Given the description of an element on the screen output the (x, y) to click on. 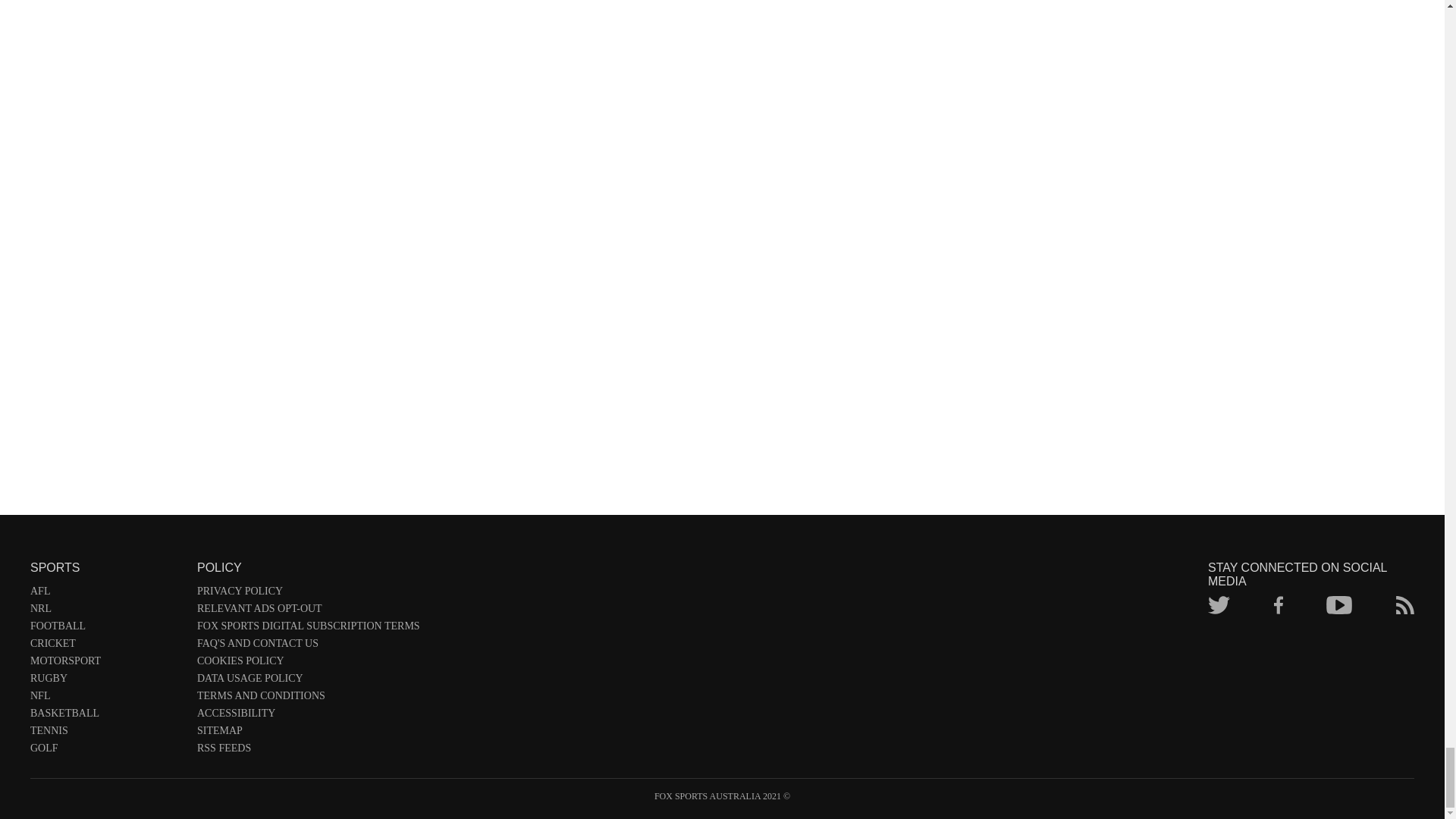
GOLF (106, 751)
FOOTBALL (106, 628)
FAQ'S AND CONTACT US (308, 646)
DATA USAGE POLICY (308, 681)
NFL (106, 698)
FOX SPORTS DIGITAL SUBSCRIPTION TERMS (308, 628)
RSS FEEDS (308, 751)
NRL (106, 610)
PRIVACY POLICY (308, 593)
CRICKET (106, 646)
TERMS AND CONDITIONS (308, 698)
TENNIS (106, 733)
RELEVANT ADS OPT-OUT (308, 610)
ACCESSIBILITY (308, 715)
BASKETBALL (106, 715)
